Given the description of an element on the screen output the (x, y) to click on. 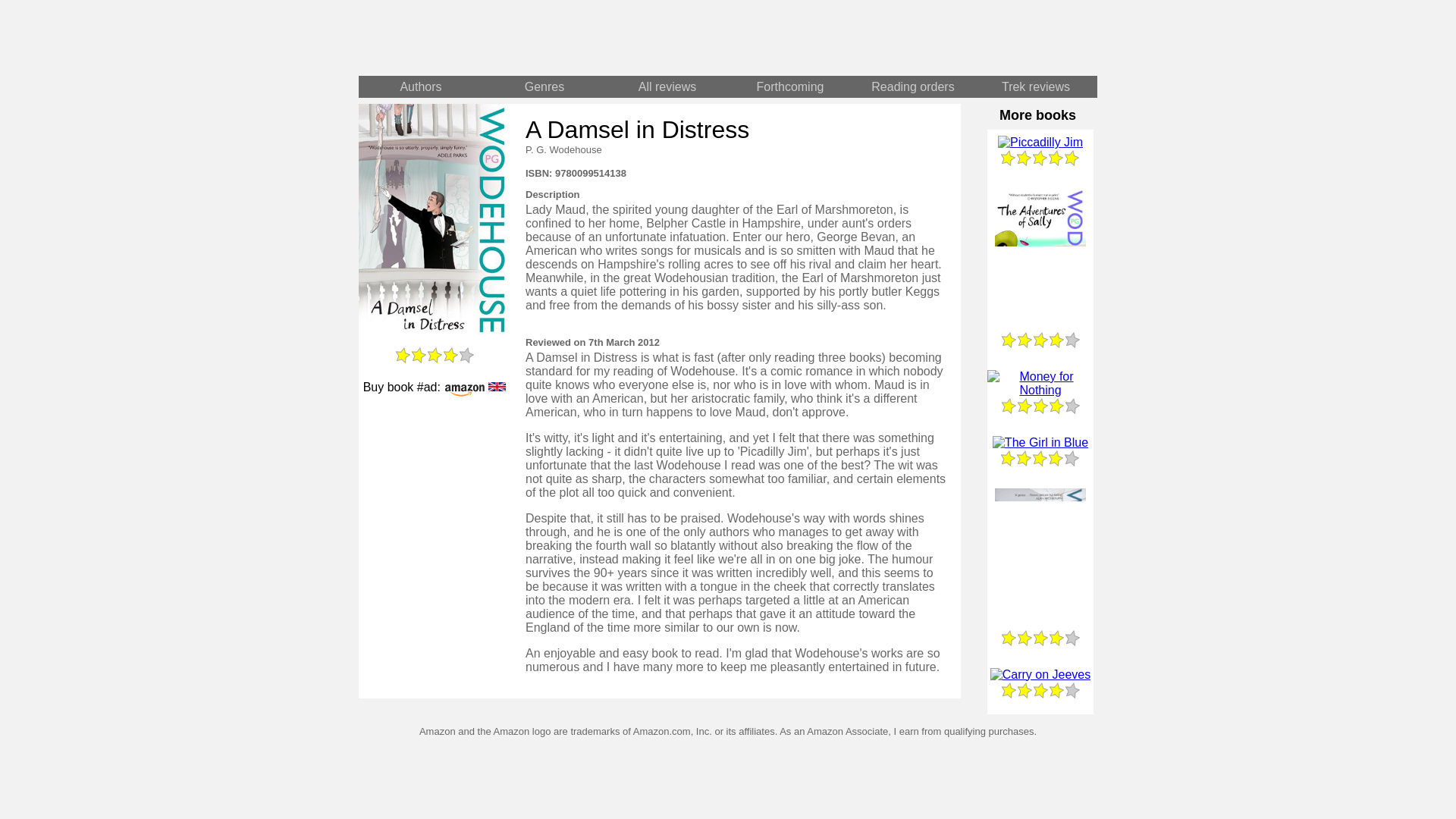
Trek reviews (1035, 86)
Authors (420, 86)
Star Trek (912, 38)
Genres (544, 86)
Forthcoming (790, 86)
Reading orders (912, 86)
All reviews (667, 86)
Home (543, 38)
